Given the description of an element on the screen output the (x, y) to click on. 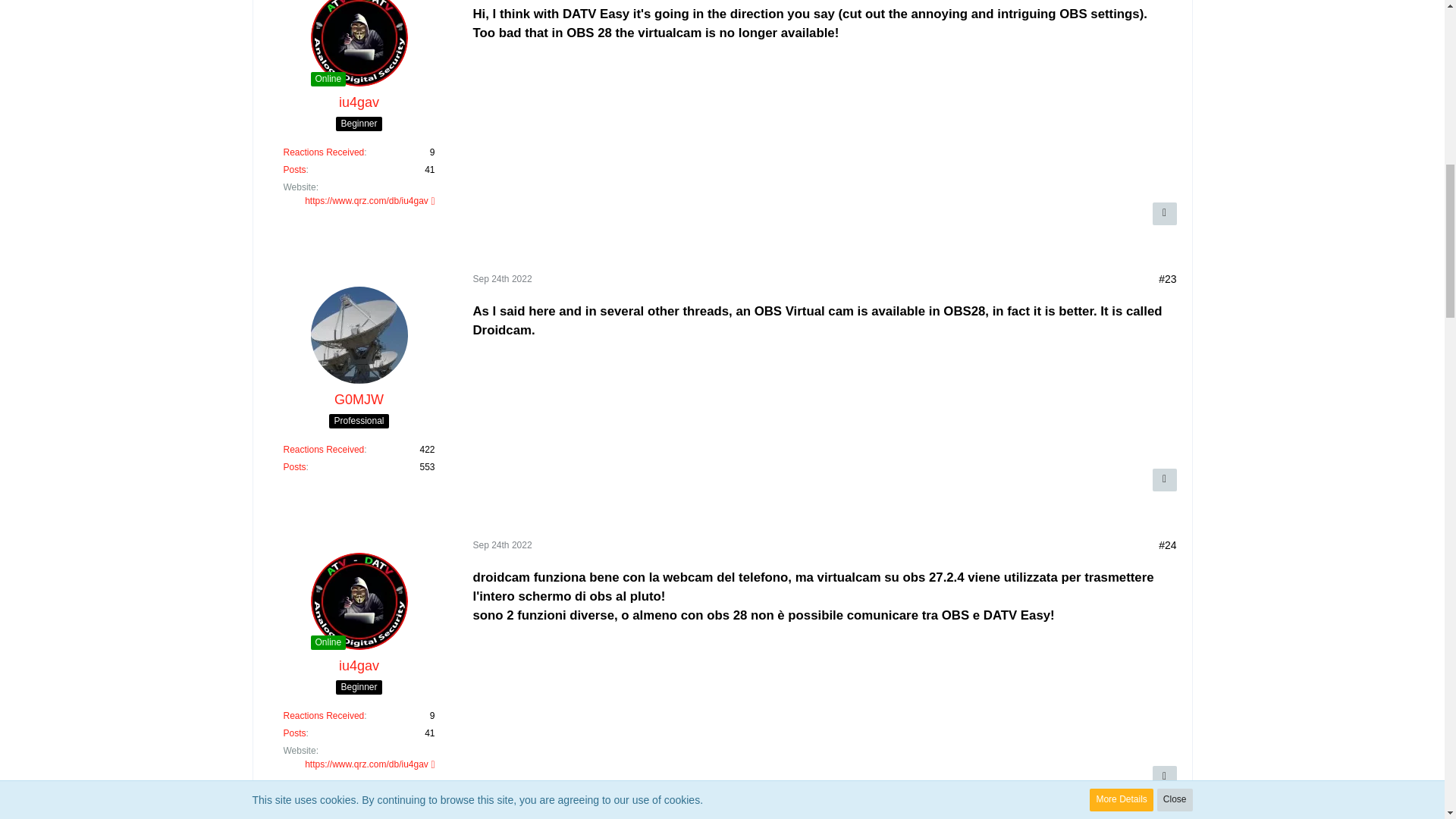
iu4gav is online (328, 642)
Reactions Received (324, 152)
Posts (294, 169)
iu4gav (358, 102)
iu4gav is online (328, 79)
